Given the description of an element on the screen output the (x, y) to click on. 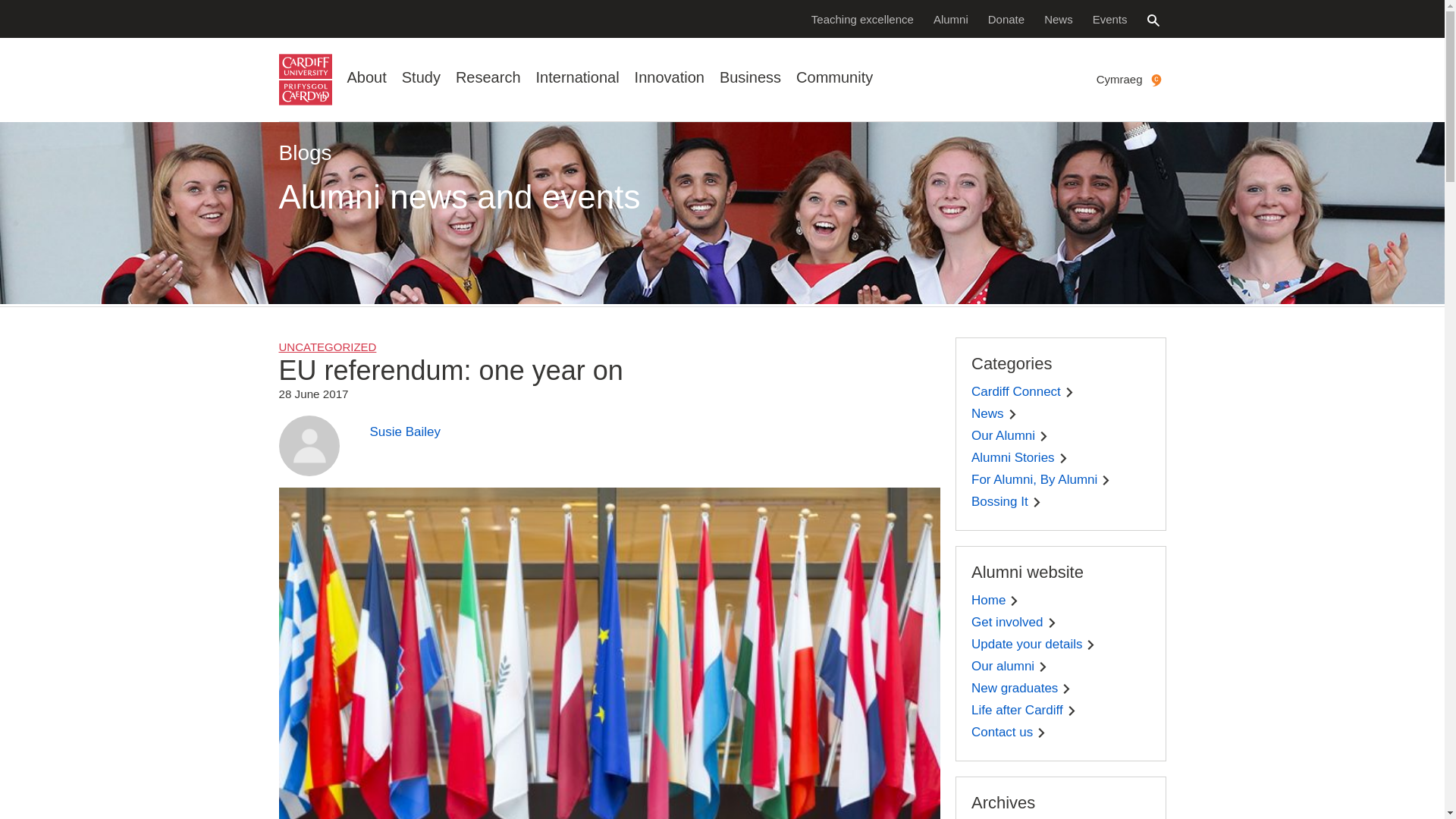
Chevron right (1069, 392)
Cardiff University logo (305, 79)
Search (1152, 20)
Chevron right (1066, 688)
View all posts in Uncategorized (328, 346)
Chevron right (1043, 666)
Chevron right (1012, 414)
Chevron right (1091, 644)
Events (1109, 19)
Chevron right (1014, 601)
